Given the description of an element on the screen output the (x, y) to click on. 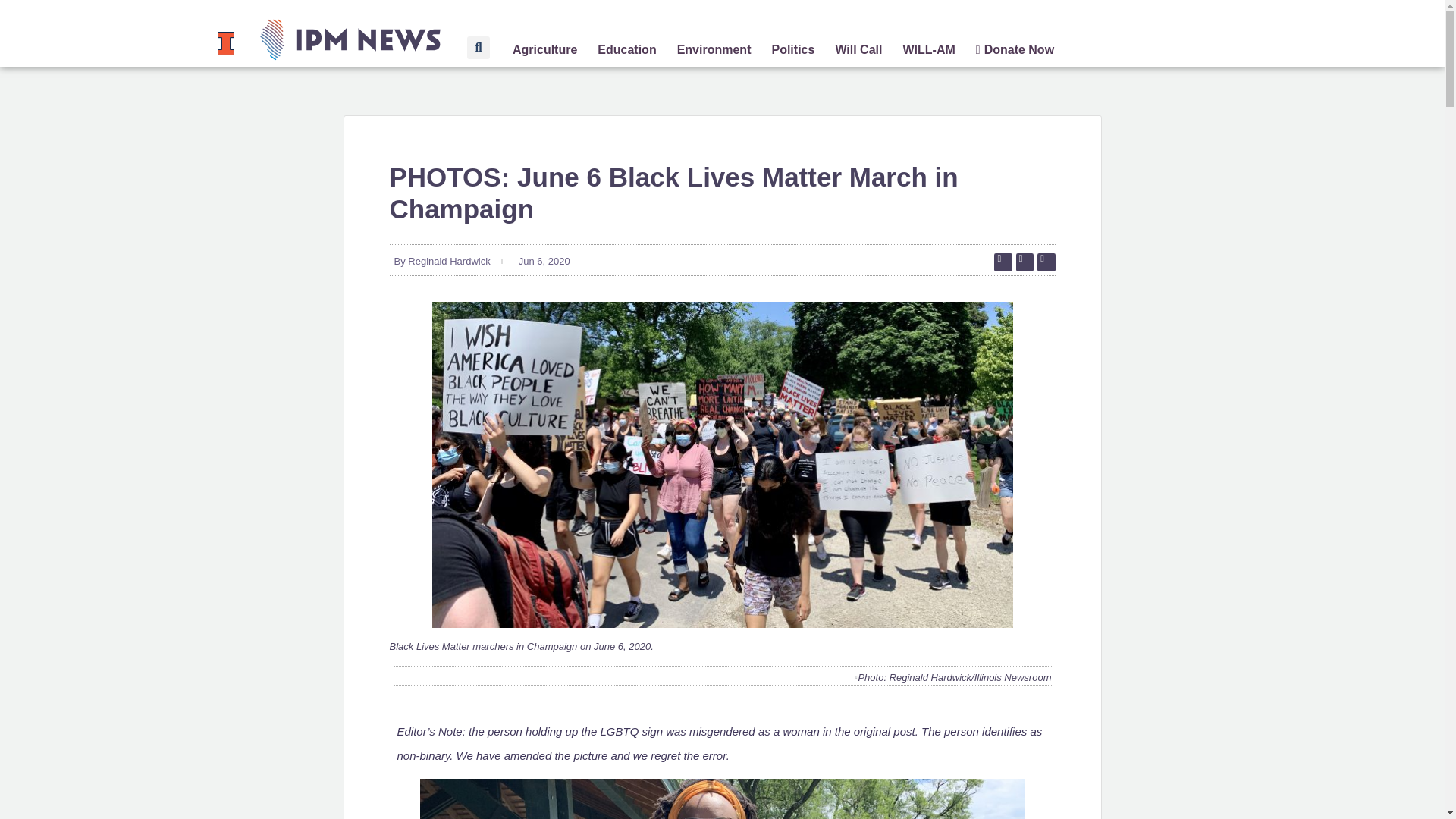
By Reginald Hardwick (440, 261)
Donate Now (1014, 49)
Jun 6, 2020 (541, 261)
Agriculture (544, 49)
Politics (792, 49)
Will Call (858, 49)
WILL-AM (928, 49)
Environment (714, 49)
Education (626, 49)
